Given the description of an element on the screen output the (x, y) to click on. 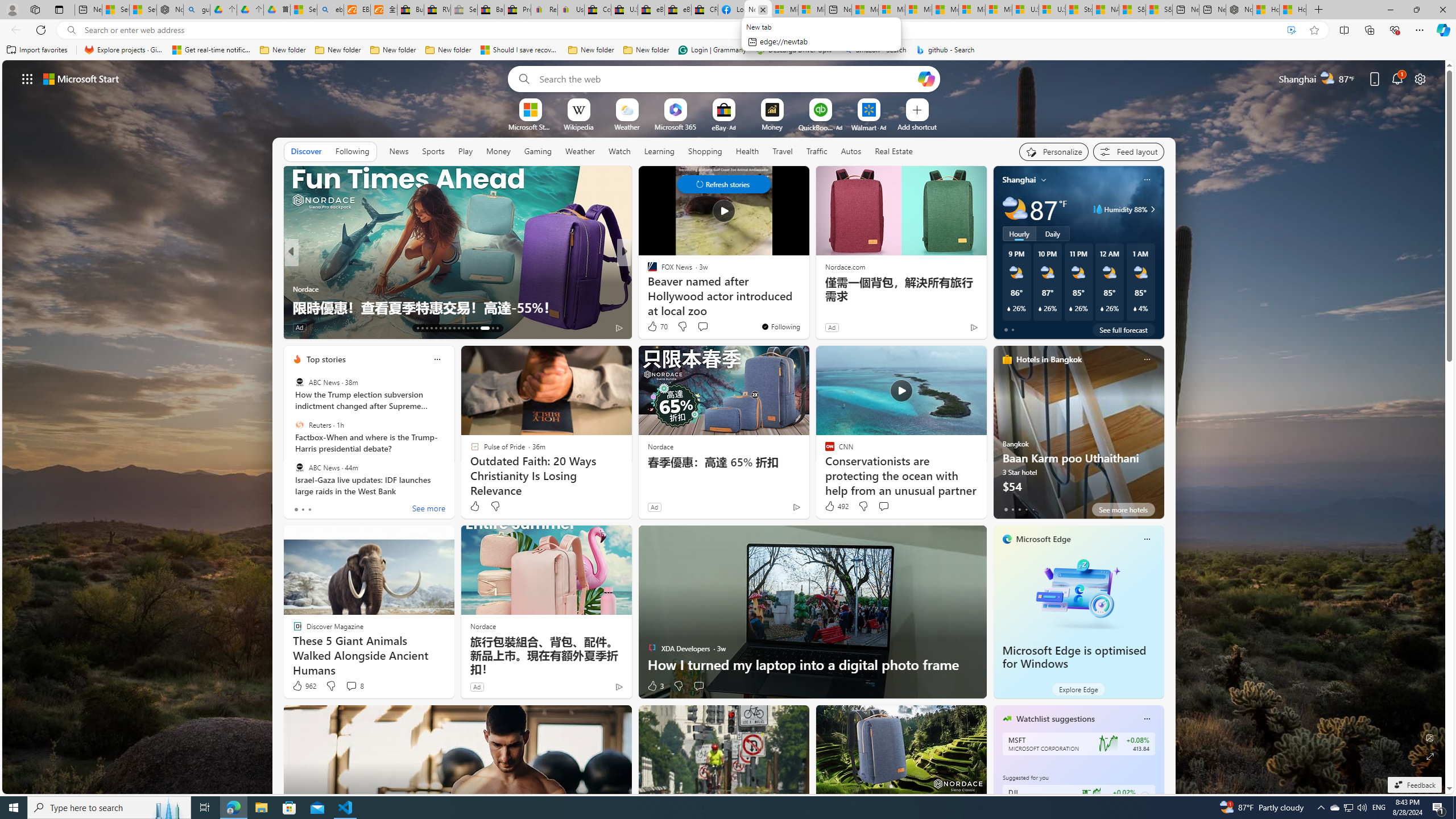
View comments 8 Comment (354, 685)
Dislike (678, 685)
Learning (658, 151)
Gaming (537, 151)
962 Like (303, 685)
ABC News (299, 466)
How to Use a Monitor With Your Closed Laptop (1292, 9)
Microsoft account | Privacy (891, 9)
Health (746, 151)
Baan Karm poo Uthaithani (1078, 436)
Class: follow-button  m (1144, 795)
ebay - Search (329, 9)
Watch (619, 151)
